Given the description of an element on the screen output the (x, y) to click on. 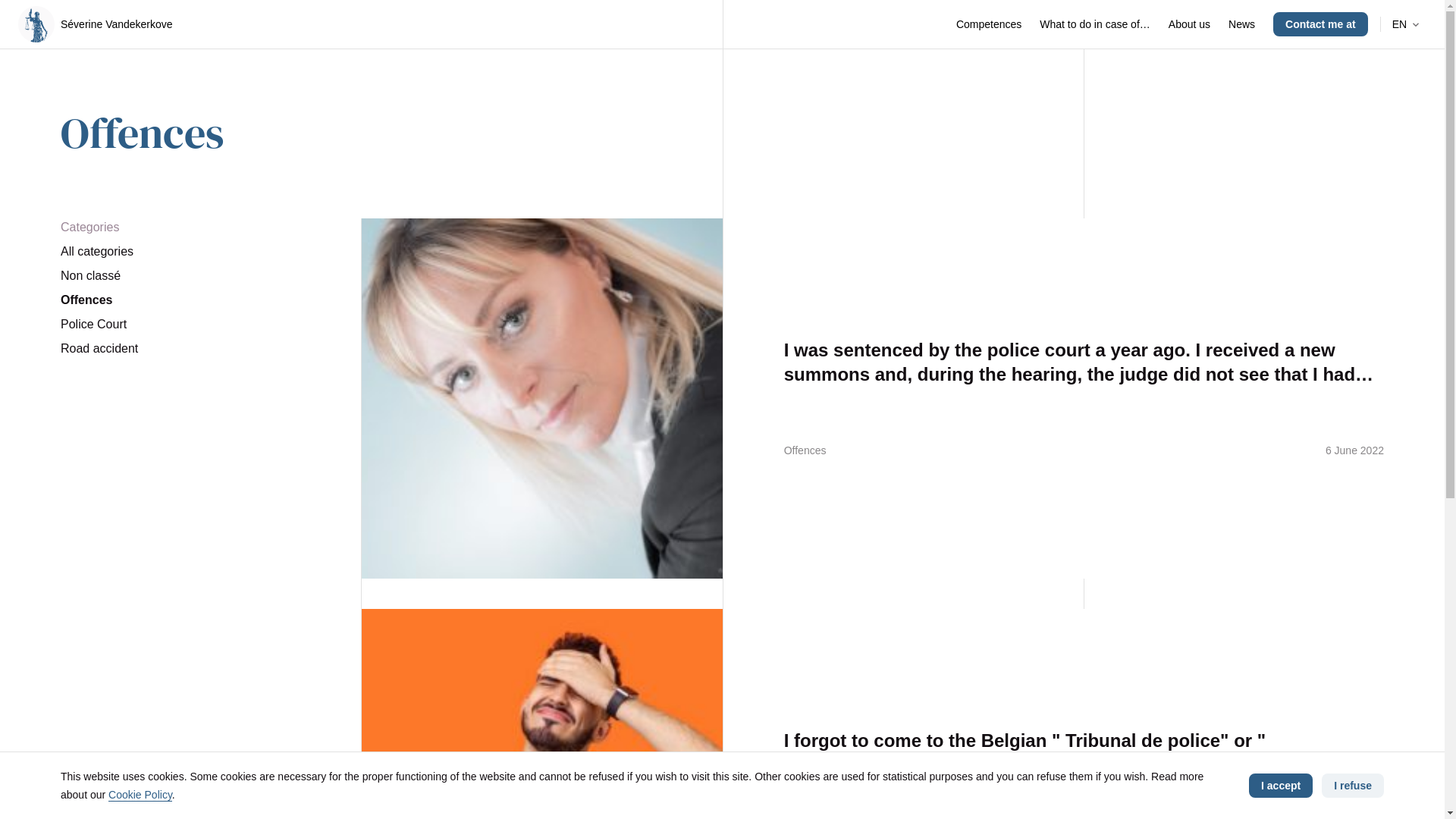
Road accident Element type: text (180, 348)
Contact me at Element type: text (1320, 24)
EN Element type: text (1406, 23)
I accept Element type: text (1280, 785)
I refuse Element type: text (1352, 785)
Offences Element type: text (180, 300)
Police Court Element type: text (180, 324)
About us Element type: text (1189, 24)
All categories Element type: text (180, 251)
News Element type: text (1241, 24)
Cookie Policy Element type: text (140, 794)
Competences Element type: text (988, 24)
